Given the description of an element on the screen output the (x, y) to click on. 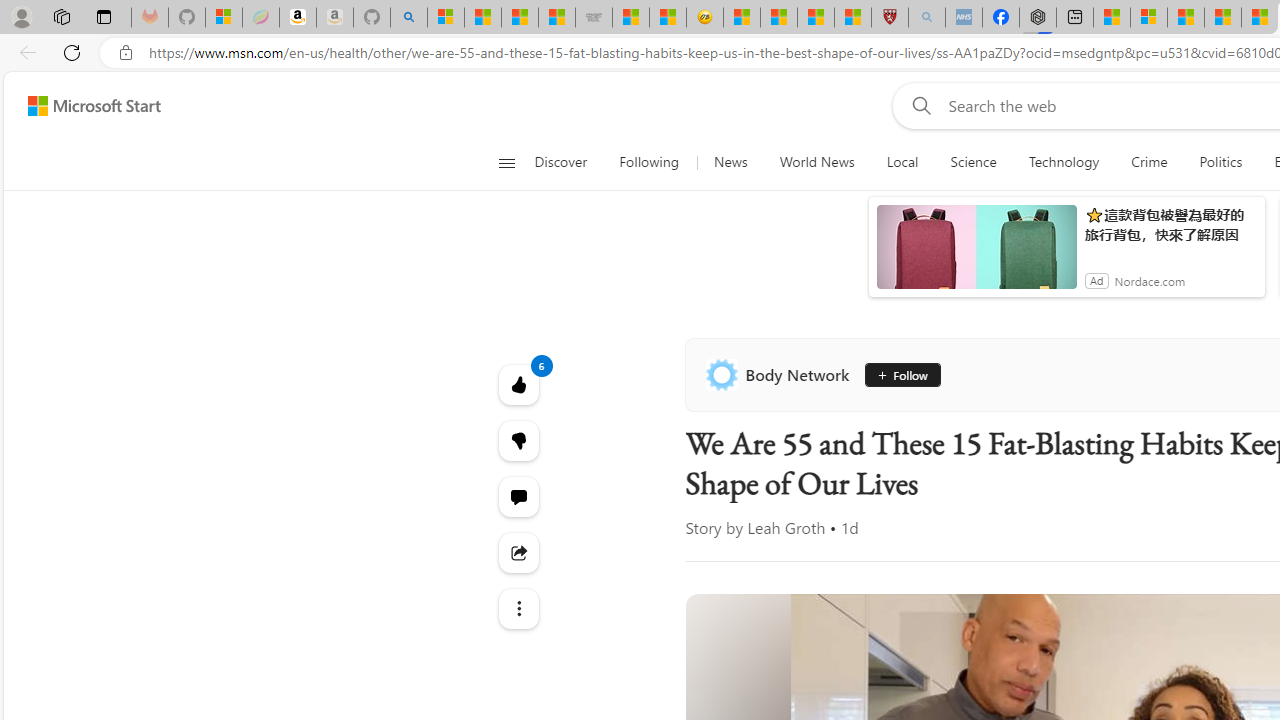
Share this story (517, 552)
12 Popular Science Lies that Must be Corrected (852, 17)
Follow (900, 374)
